Given the description of an element on the screen output the (x, y) to click on. 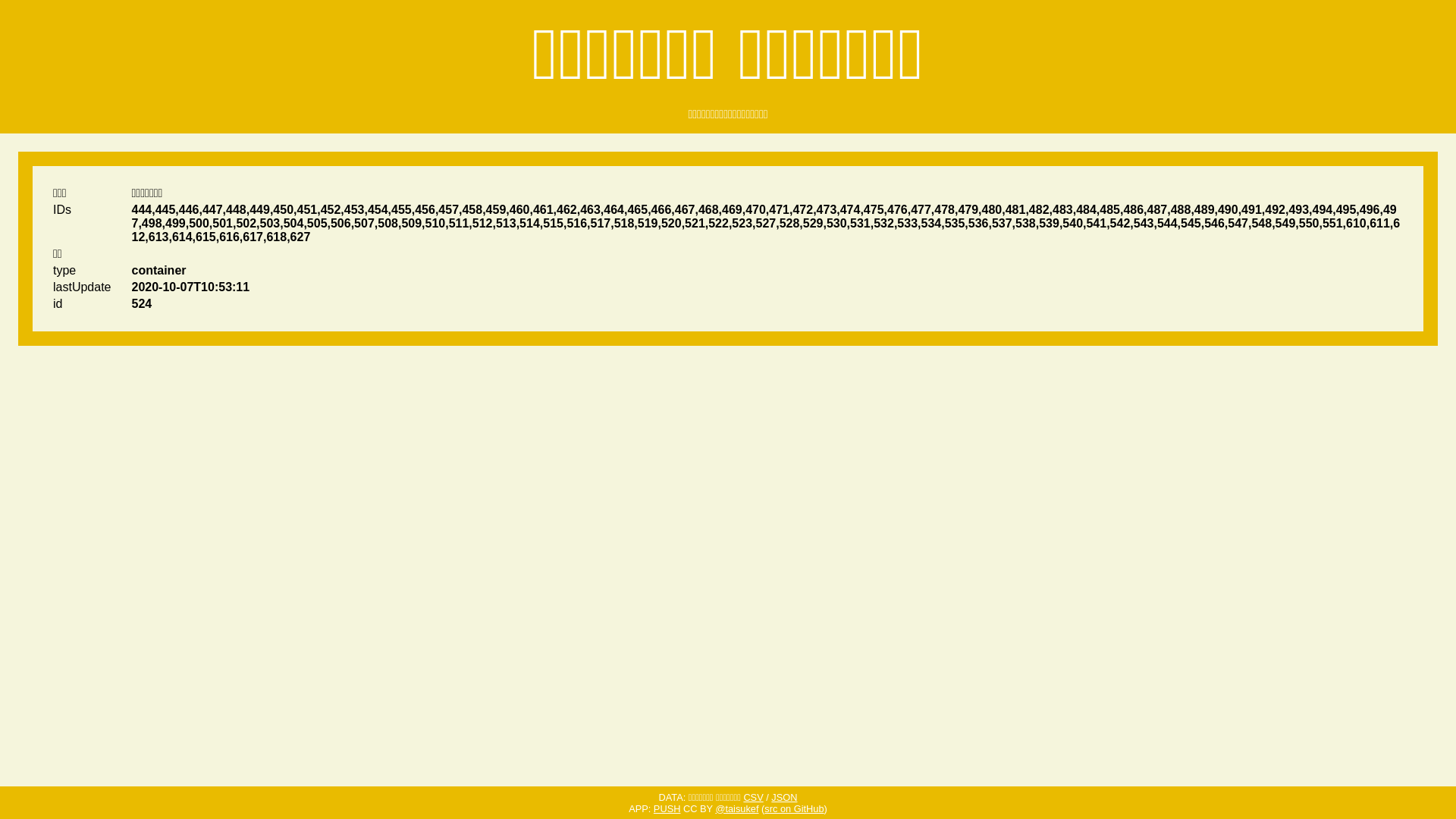
PUSH Element type: text (666, 808)
@taisukef Element type: text (736, 808)
CSV Element type: text (752, 797)
JSON Element type: text (784, 797)
src on GitHub Element type: text (793, 808)
